Given the description of an element on the screen output the (x, y) to click on. 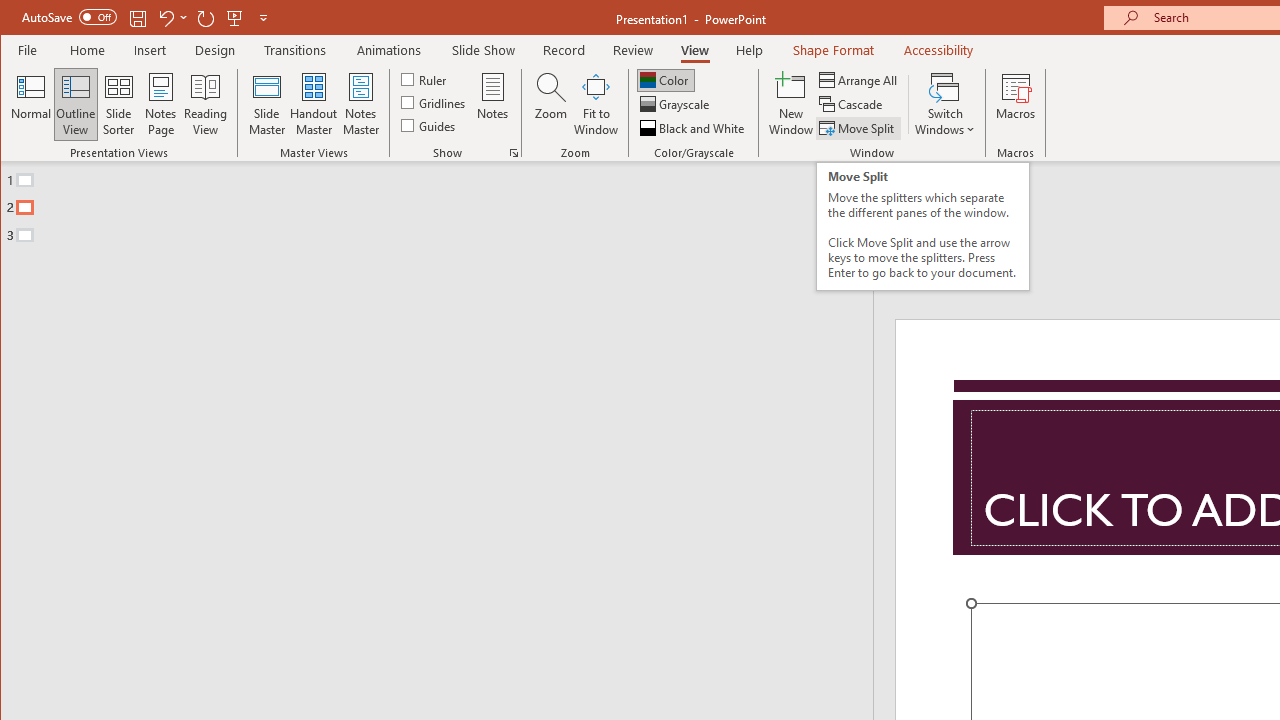
Notes Page (160, 104)
